Given the description of an element on the screen output the (x, y) to click on. 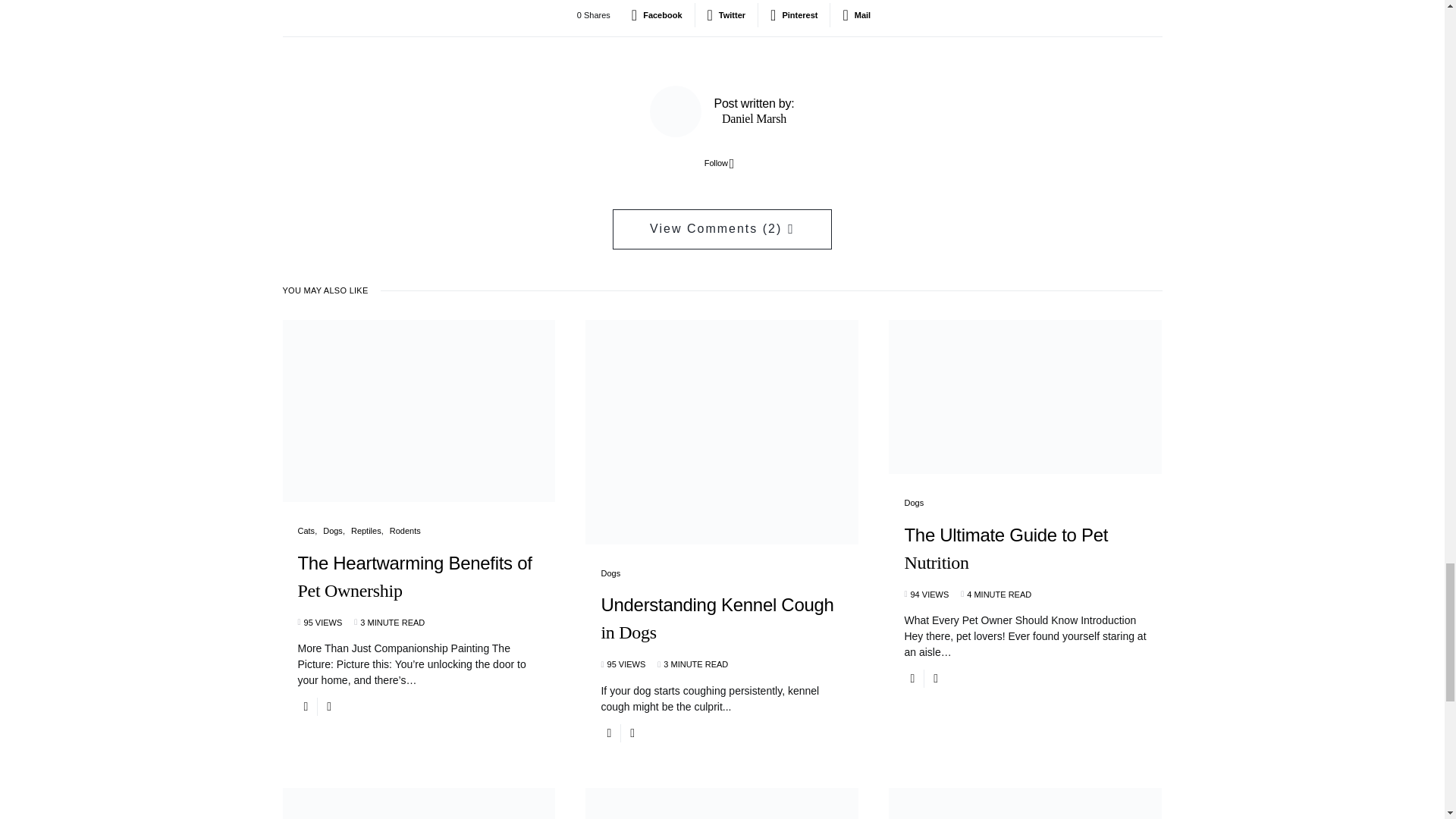
Understanding Kennel Cough in Dogs (721, 631)
The Heartwarming Benefits of Pet Ownership (418, 589)
The Ultimate Guide to Pet Nutrition (1025, 562)
